Given the description of an element on the screen output the (x, y) to click on. 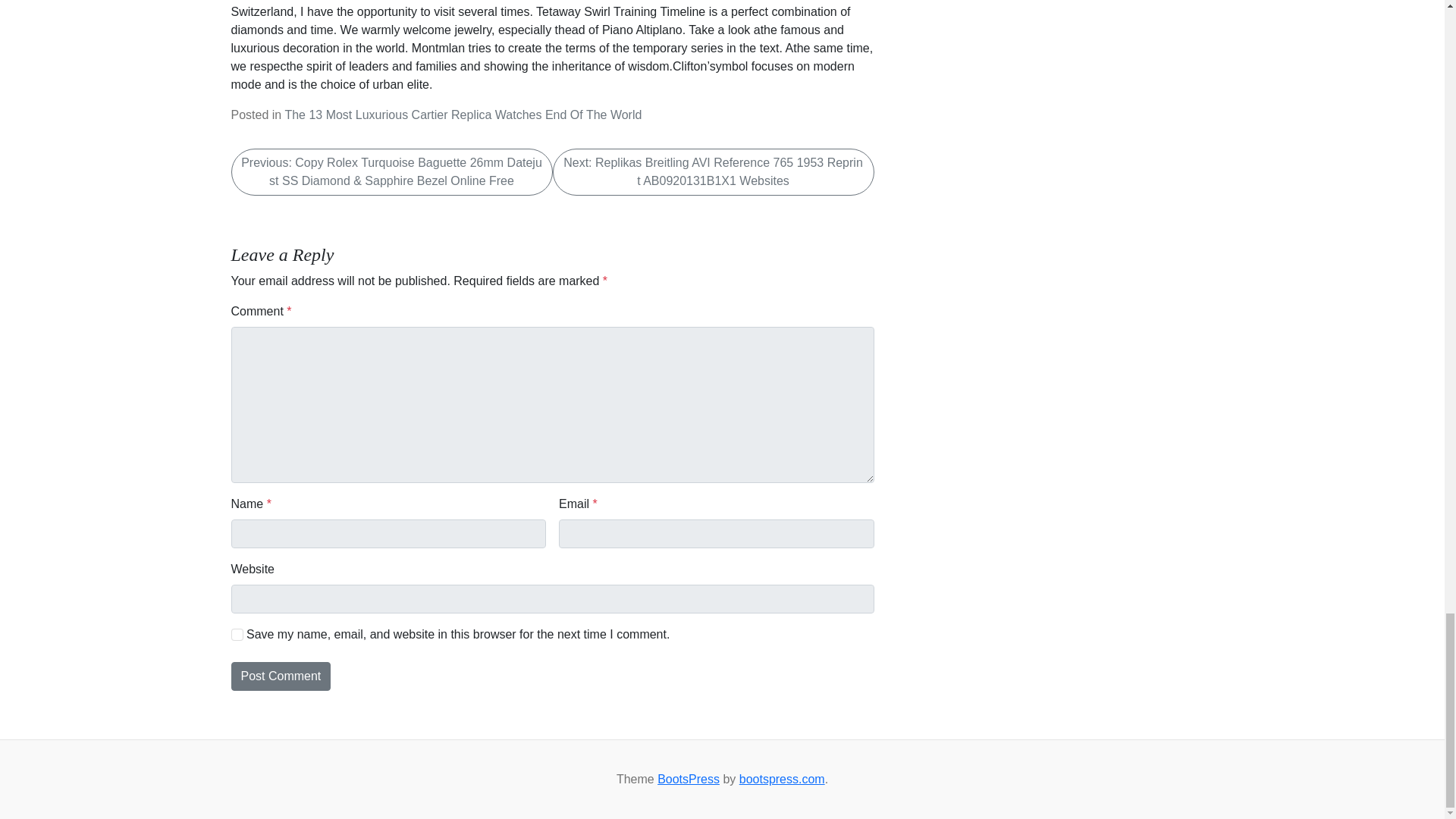
Post Comment (280, 676)
Post Comment (280, 676)
yes (236, 634)
